Given the description of an element on the screen output the (x, y) to click on. 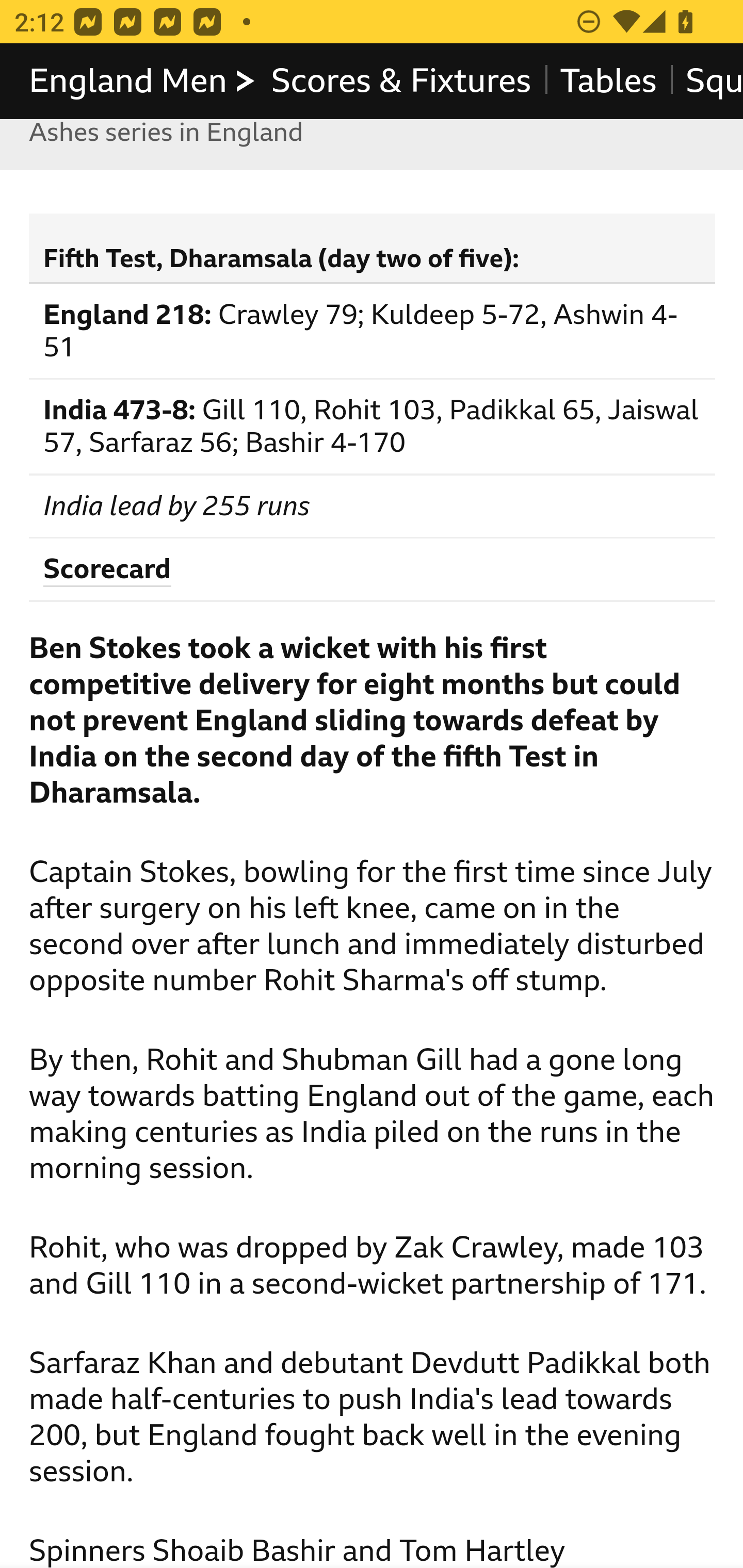
Scorecard (107, 569)
